Given the description of an element on the screen output the (x, y) to click on. 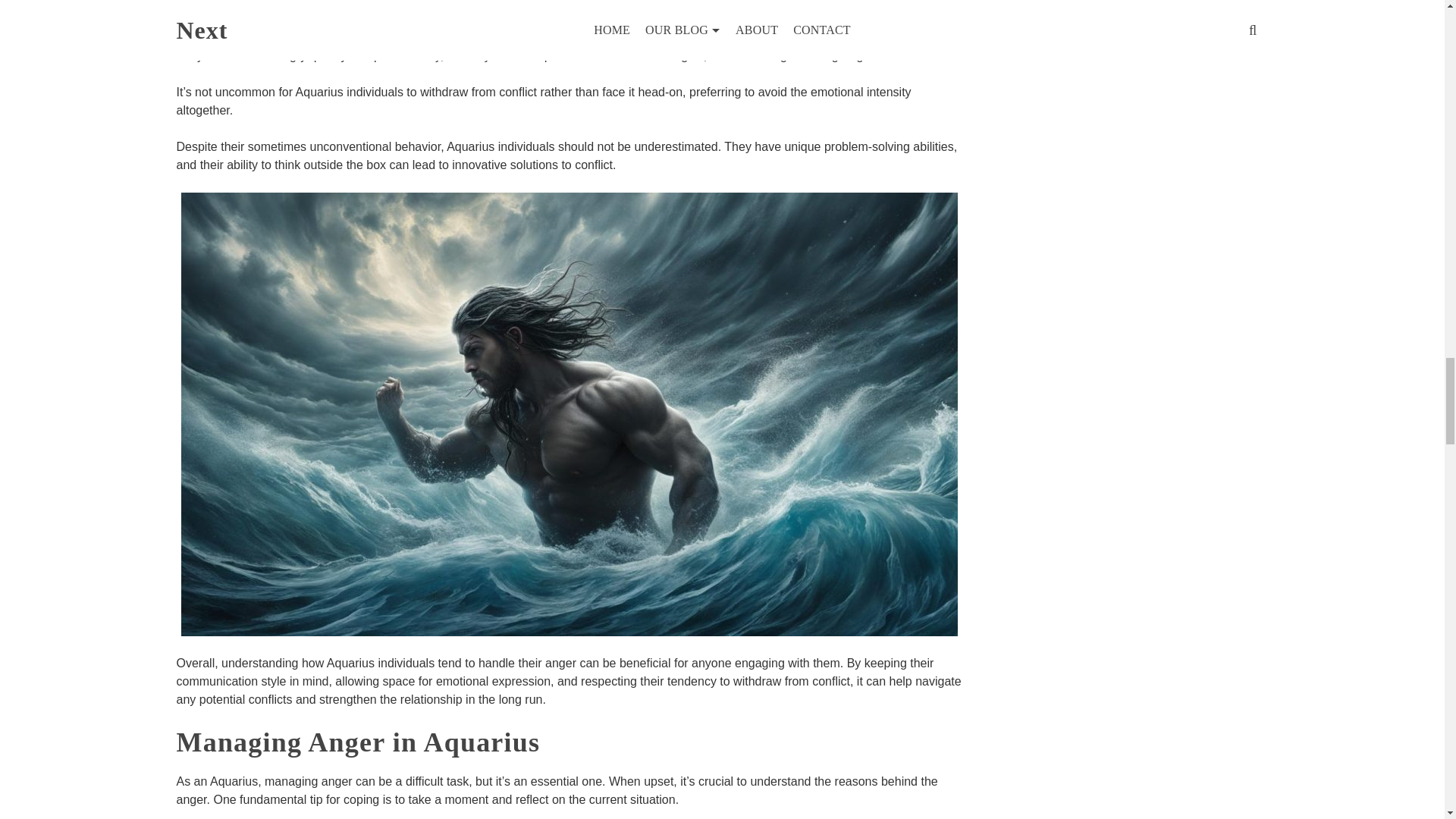
See also  What is Aquarius Skills? (569, 8)
